Given the description of an element on the screen output the (x, y) to click on. 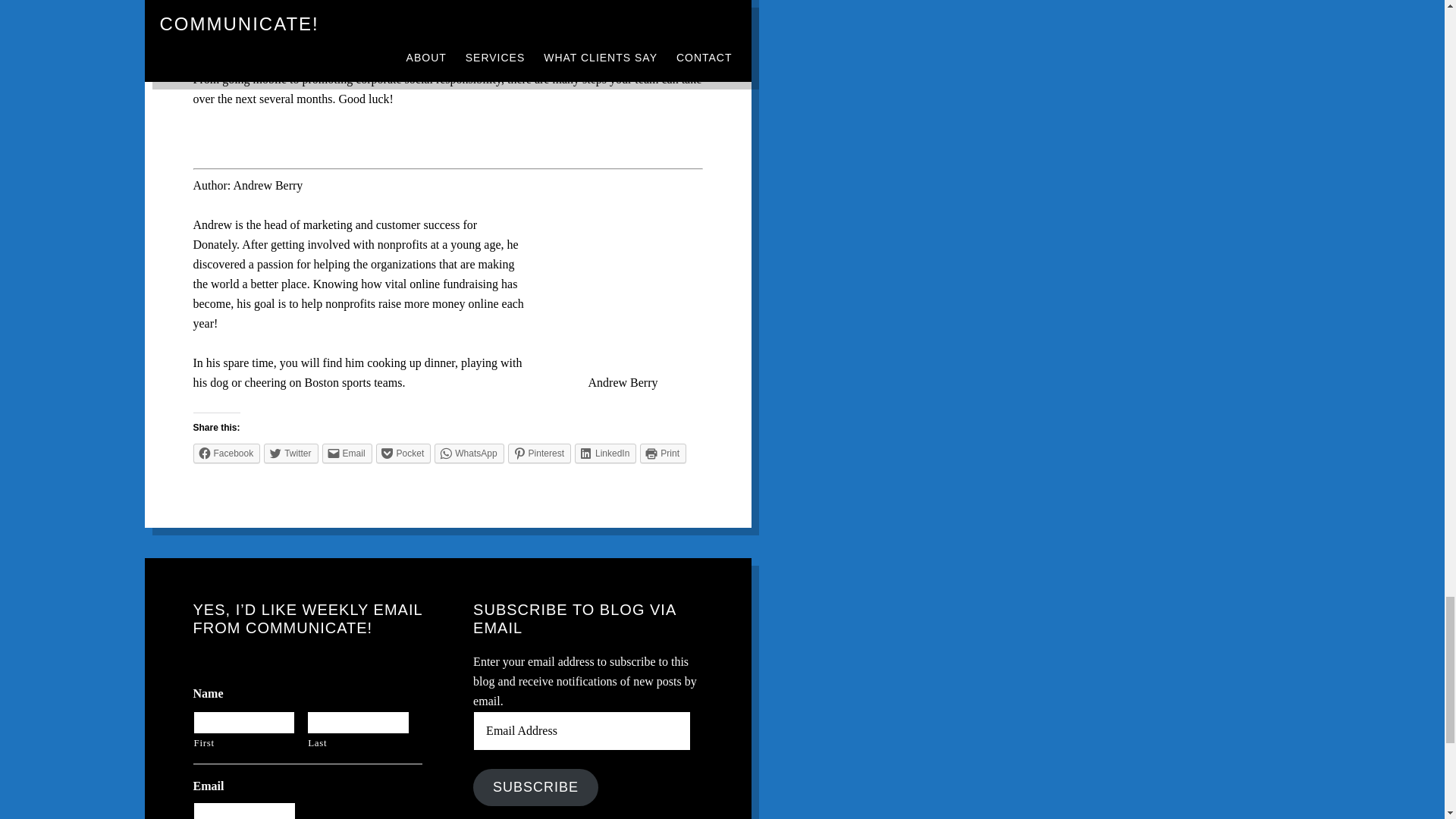
Click to share on WhatsApp (468, 452)
WhatsApp (468, 452)
Pinterest (539, 452)
Twitter (290, 452)
Facebook (226, 452)
Click to share on Pocket (402, 452)
LinkedIn (605, 452)
Click to share on Twitter (290, 452)
Pocket (402, 452)
Click to email a link to a friend (346, 452)
